Given the description of an element on the screen output the (x, y) to click on. 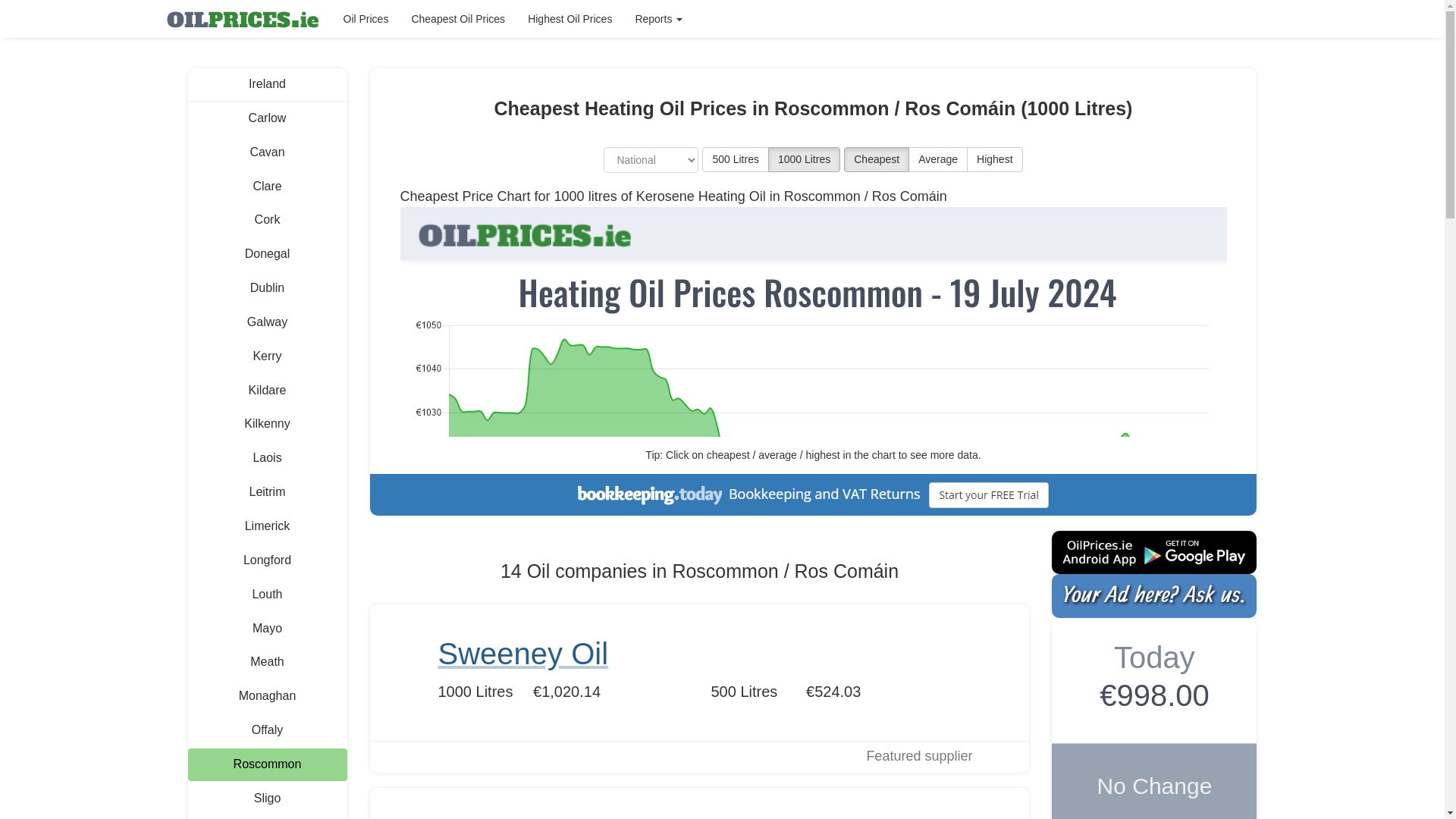
Cavan (267, 152)
Clare (267, 186)
Heating Oil Prices (241, 18)
Oil Prices (365, 18)
Ireland (267, 83)
Reports (658, 18)
Highest Oil Prices (569, 18)
Cheapest Oil Prices (457, 18)
Carlow (267, 118)
